Given the description of an element on the screen output the (x, y) to click on. 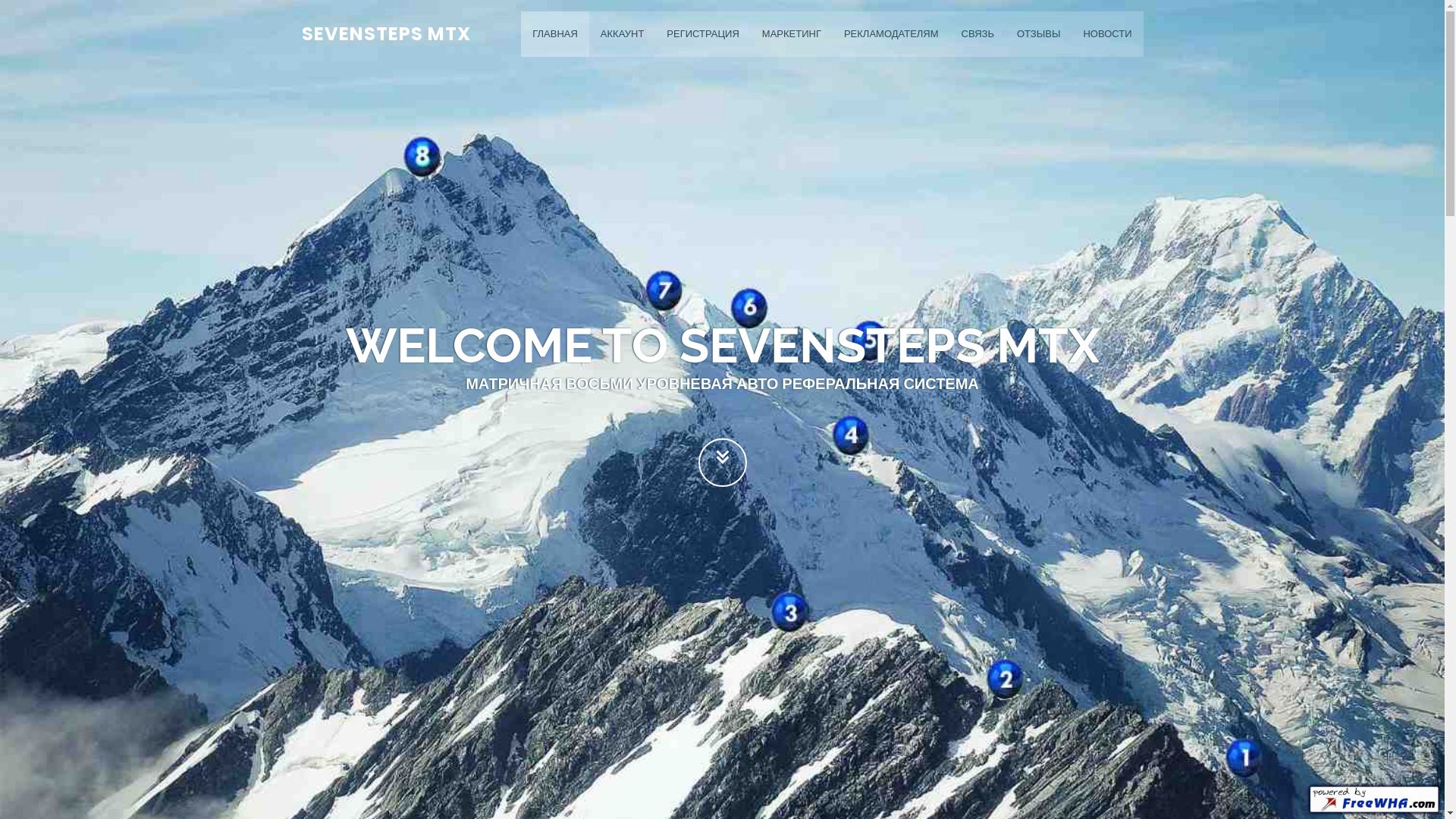
SEVENSTEPS MTX Element type: text (385, 33)
